Given the description of an element on the screen output the (x, y) to click on. 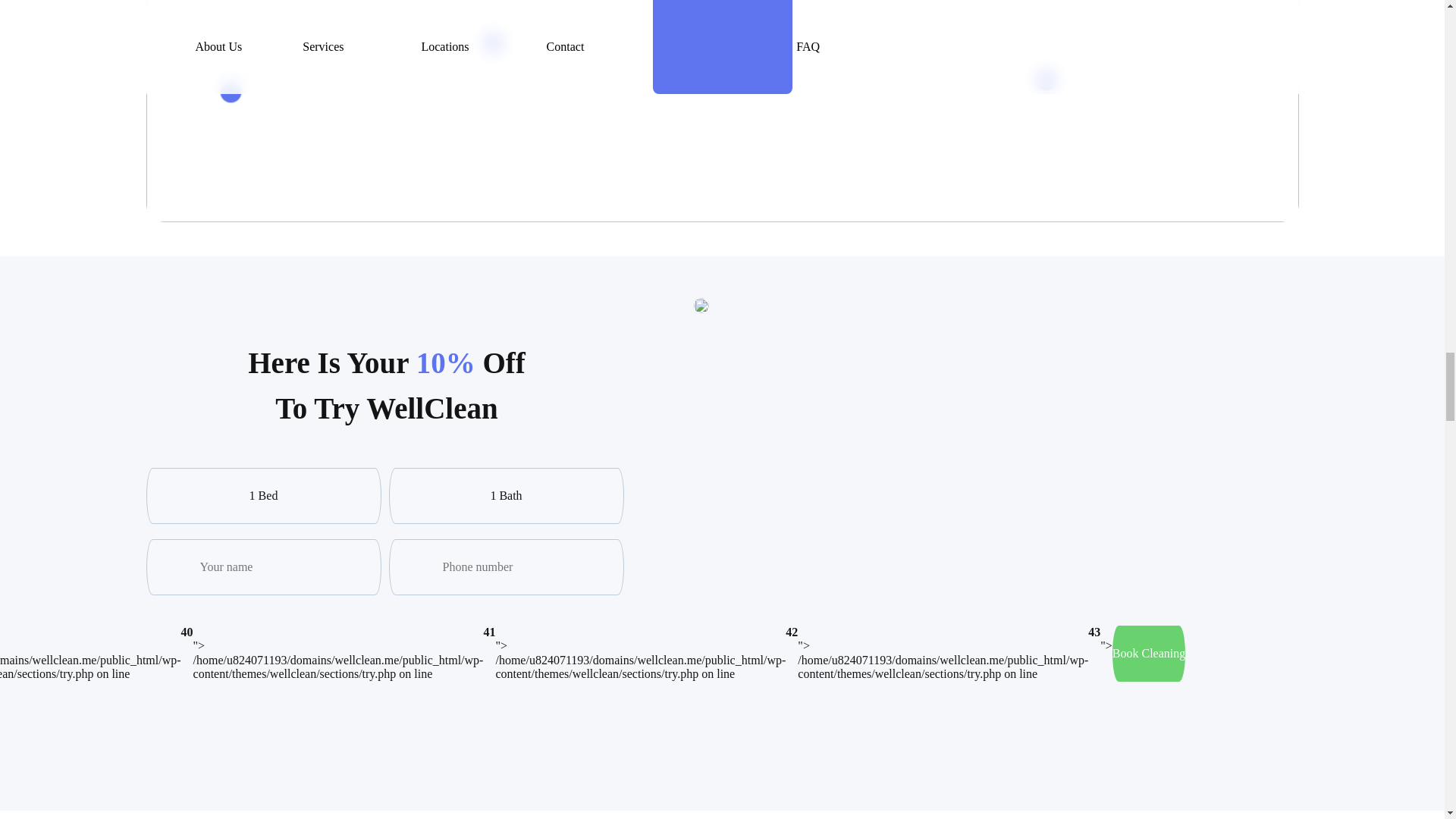
1 Bath (505, 495)
Book Cleaning (1148, 653)
1 Bed (262, 495)
